Given the description of an element on the screen output the (x, y) to click on. 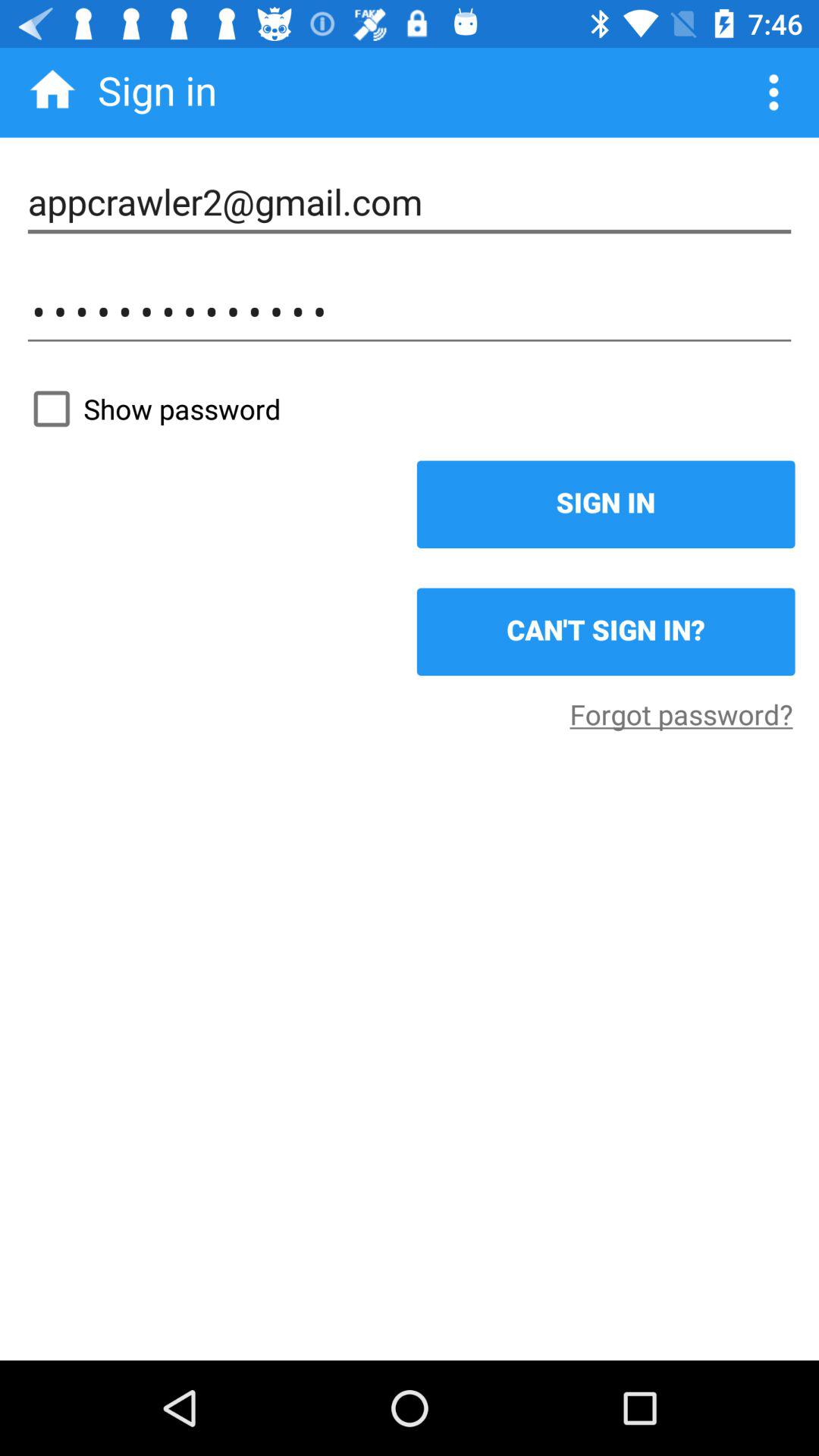
flip to forgot password? (680, 714)
